Given the description of an element on the screen output the (x, y) to click on. 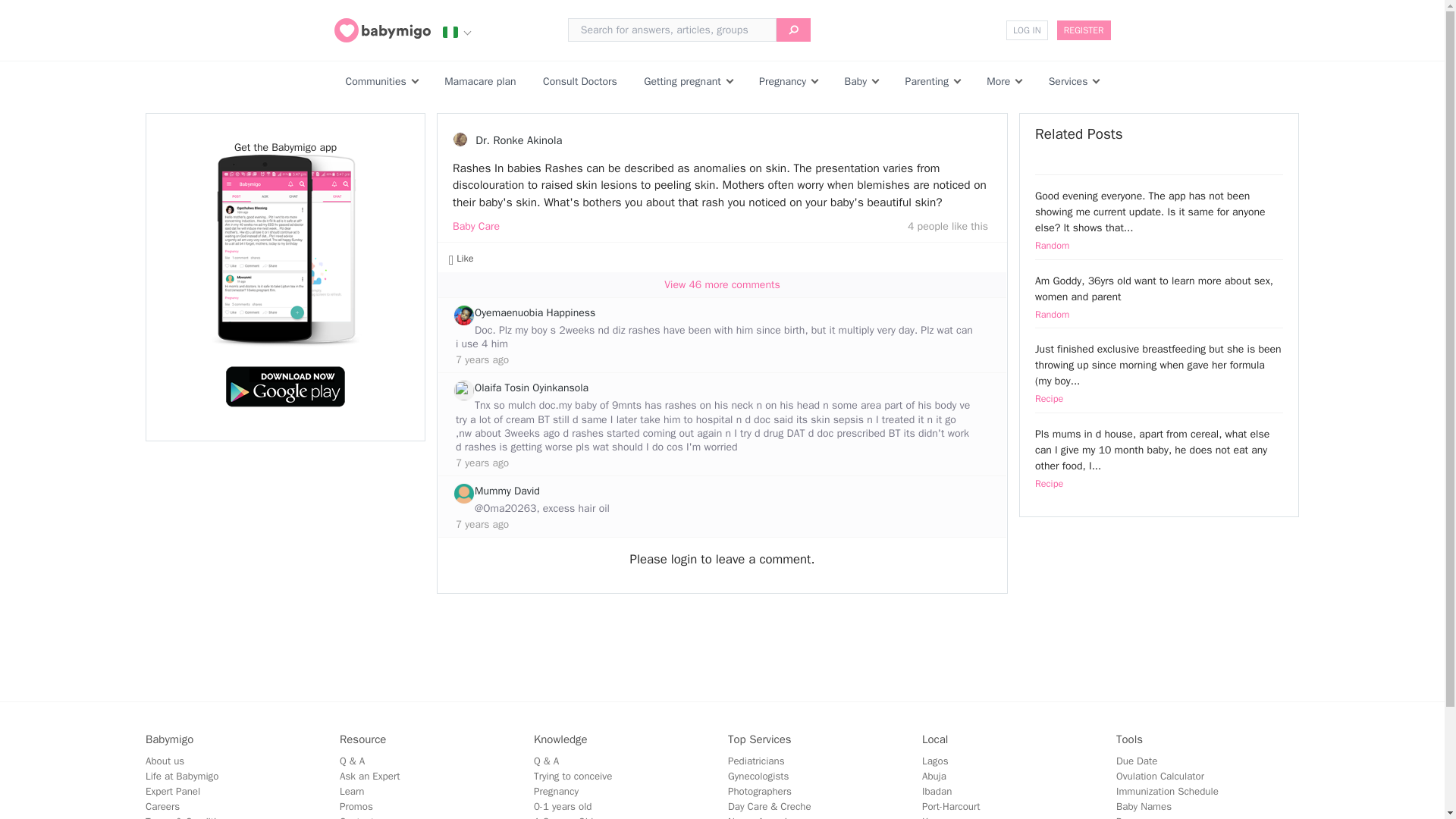
REGISTER (1083, 30)
Communities (376, 81)
LOG IN (1026, 30)
Mamacare plan (480, 81)
Consult Doctors (580, 81)
Getting pregnant (681, 81)
